Given the description of an element on the screen output the (x, y) to click on. 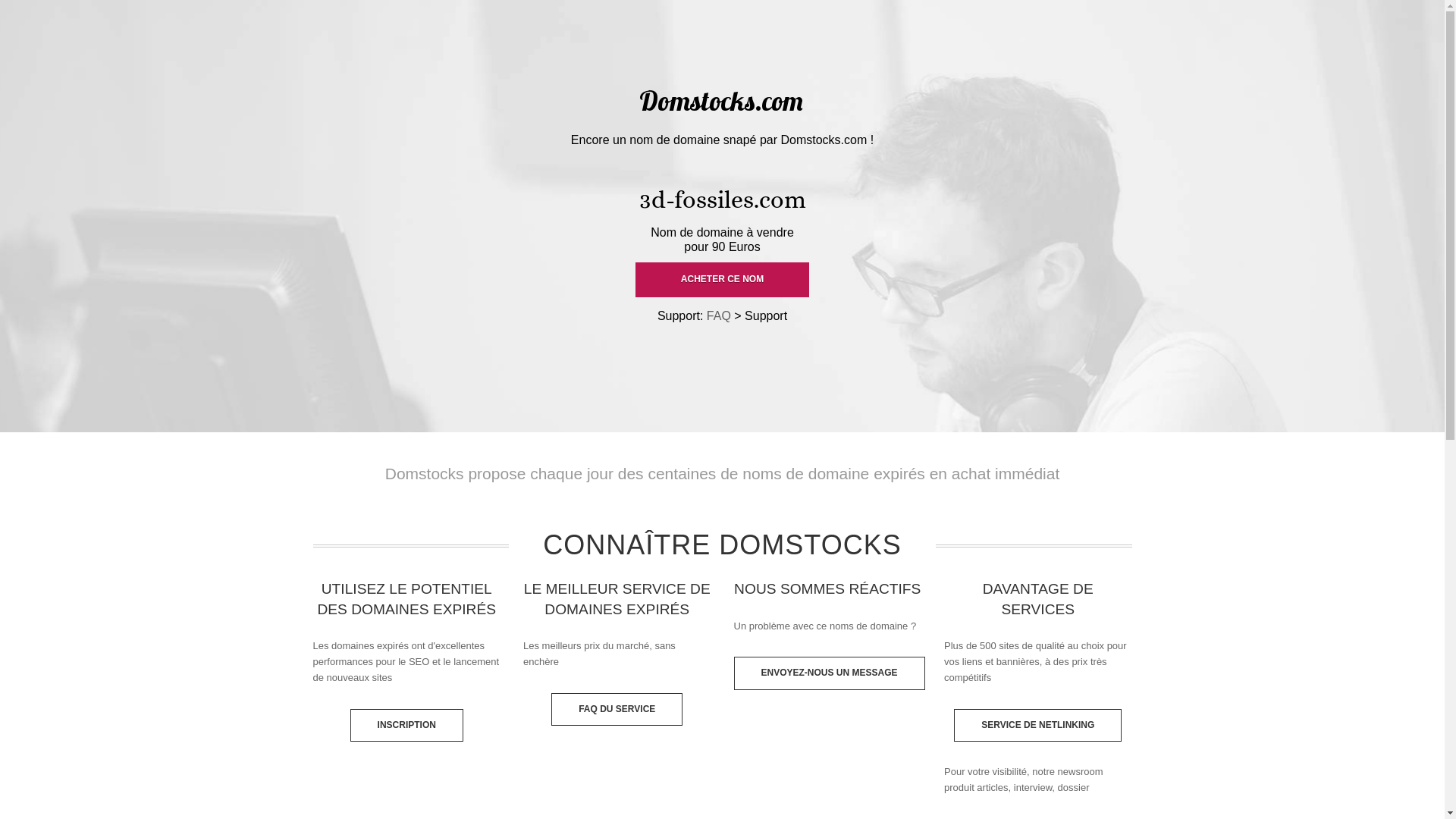
INSCRIPTION Element type: text (406, 725)
ENVOYEZ-NOUS UN MESSAGE Element type: text (829, 672)
SERVICE DE NETLINKING Element type: text (1037, 725)
FAQ Element type: text (718, 315)
FAQ DU SERVICE Element type: text (616, 709)
ACHETER CE NOM Element type: text (722, 279)
